Given the description of an element on the screen output the (x, y) to click on. 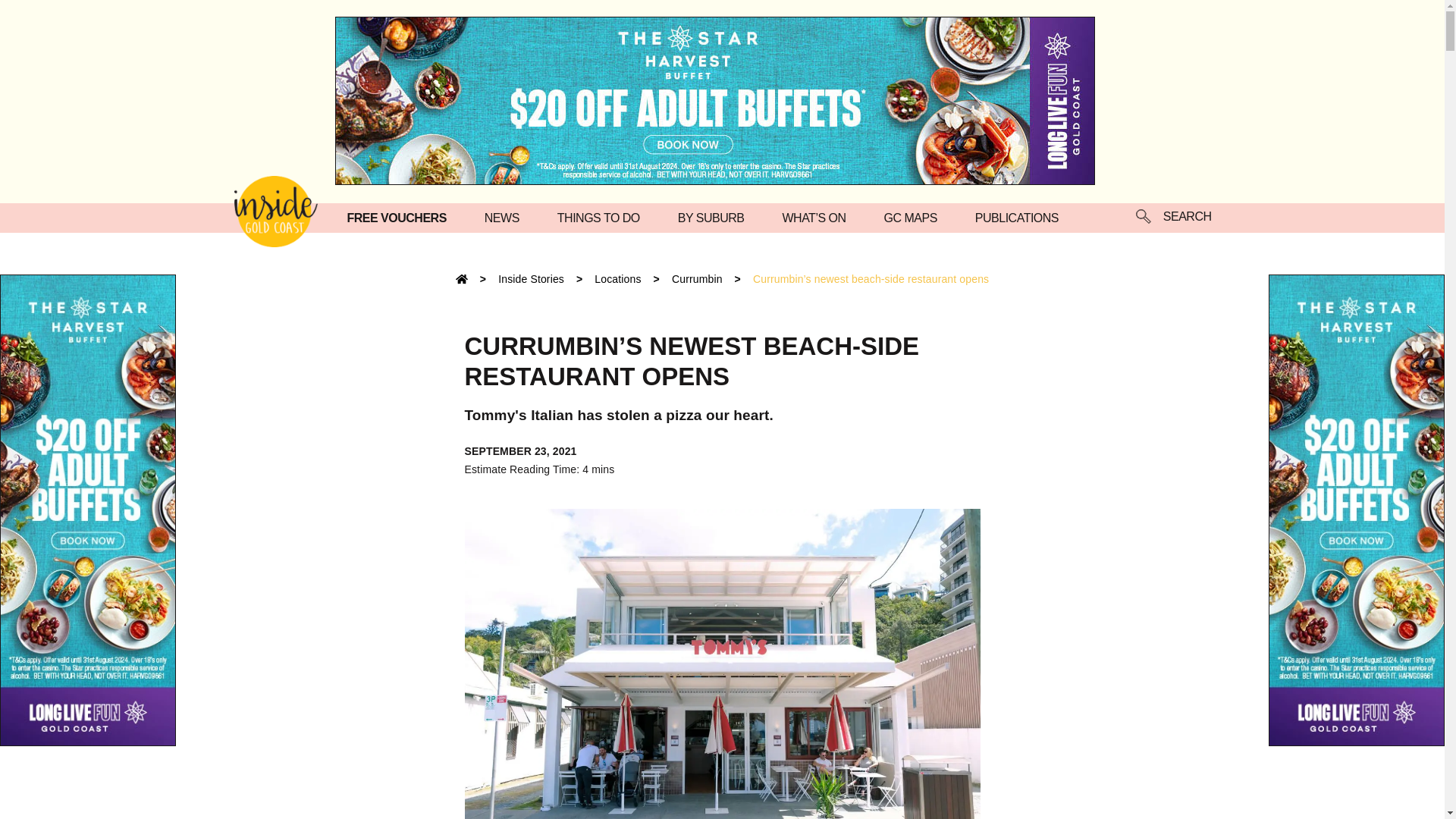
Locations (617, 278)
Currumbin (696, 278)
Inside Stories (530, 278)
PUBLICATIONS (1020, 217)
SEARCH (1173, 217)
FREE VOUCHERS (400, 217)
GC MAPS (913, 217)
THINGS TO DO (602, 217)
BY SUBURB (715, 217)
NEWS (505, 217)
